Given the description of an element on the screen output the (x, y) to click on. 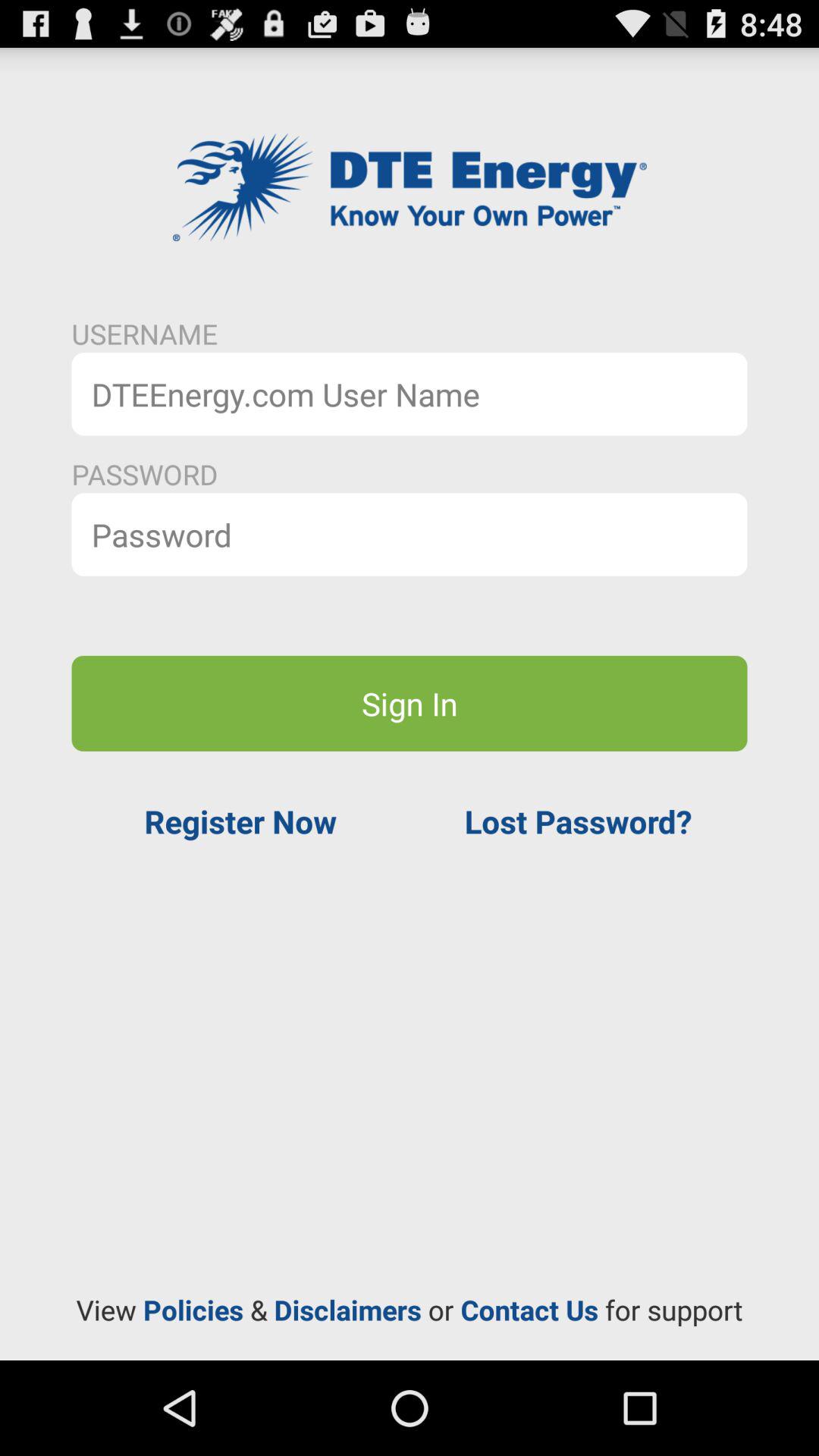
press the item next to the lost password? app (240, 821)
